Given the description of an element on the screen output the (x, y) to click on. 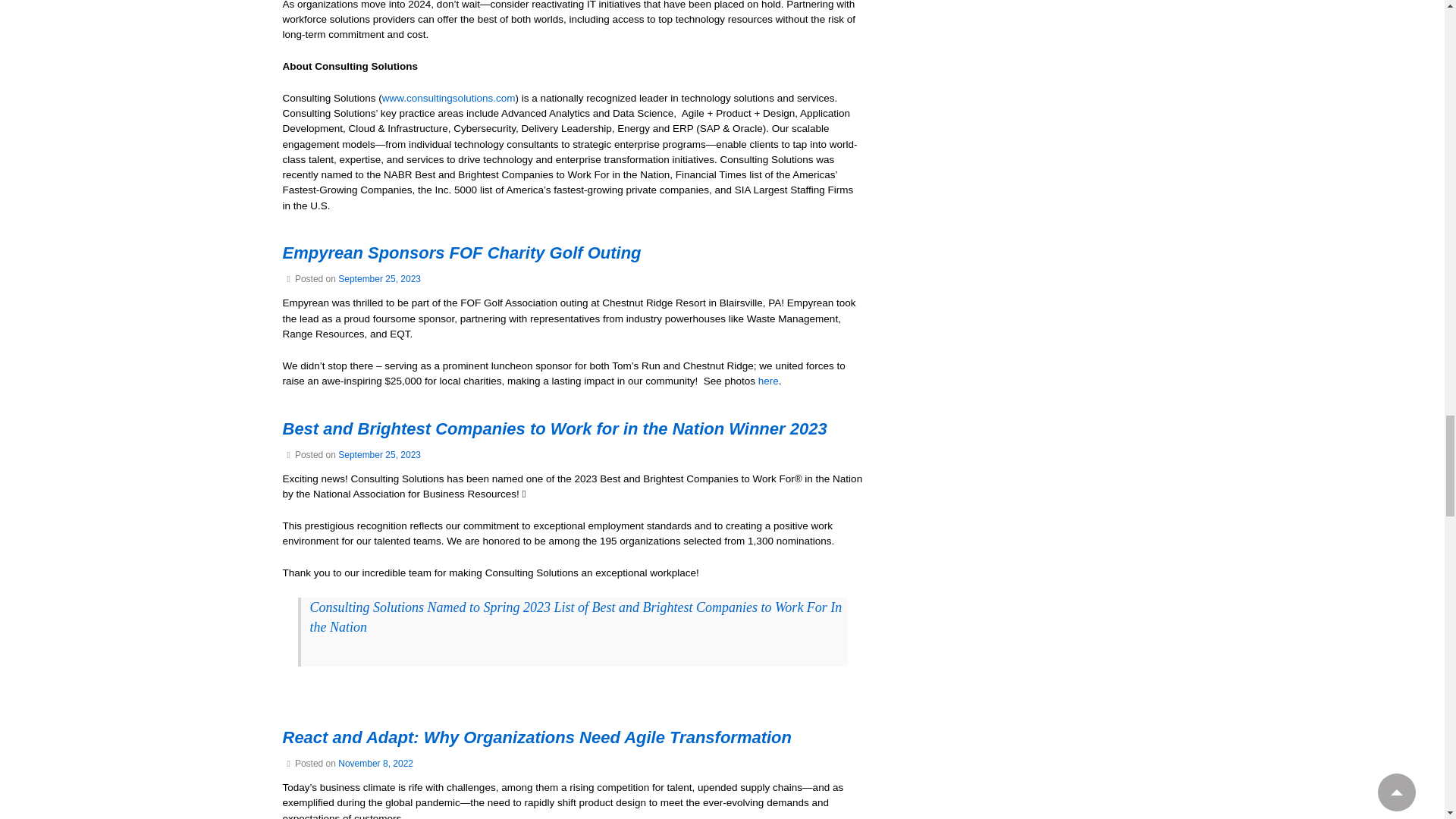
React and Adapt: Why Organizations Need Agile Transformation (375, 763)
Empyrean Sponsors FOF Charity Golf Outing (378, 278)
